Given the description of an element on the screen output the (x, y) to click on. 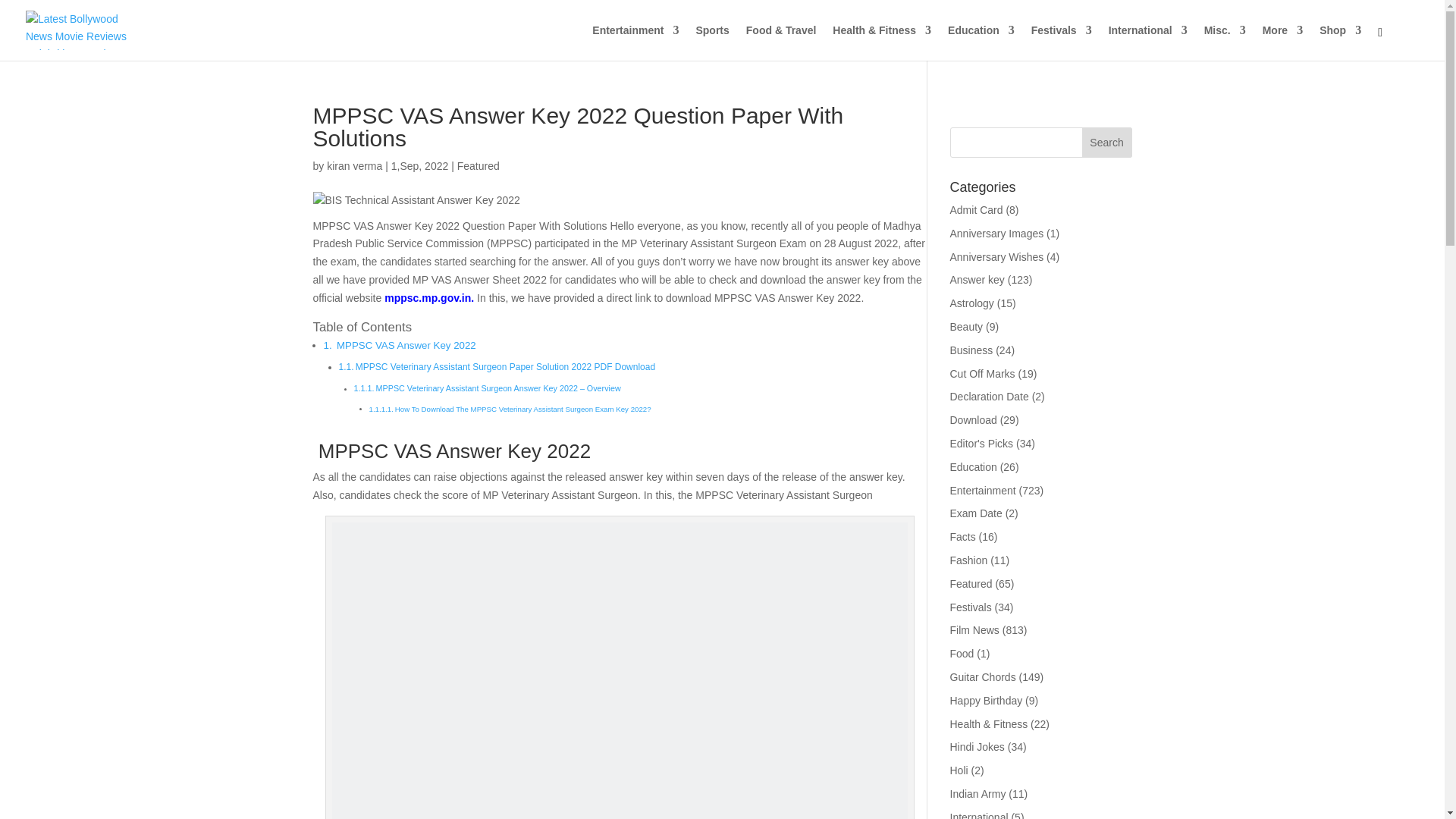
Posts by kiran verma (353, 165)
More (1282, 42)
Education (980, 42)
Festivals (1061, 42)
Sports (712, 42)
Entertainment (635, 42)
International (1148, 42)
Search (1106, 142)
Misc. (1225, 42)
